Given the description of an element on the screen output the (x, y) to click on. 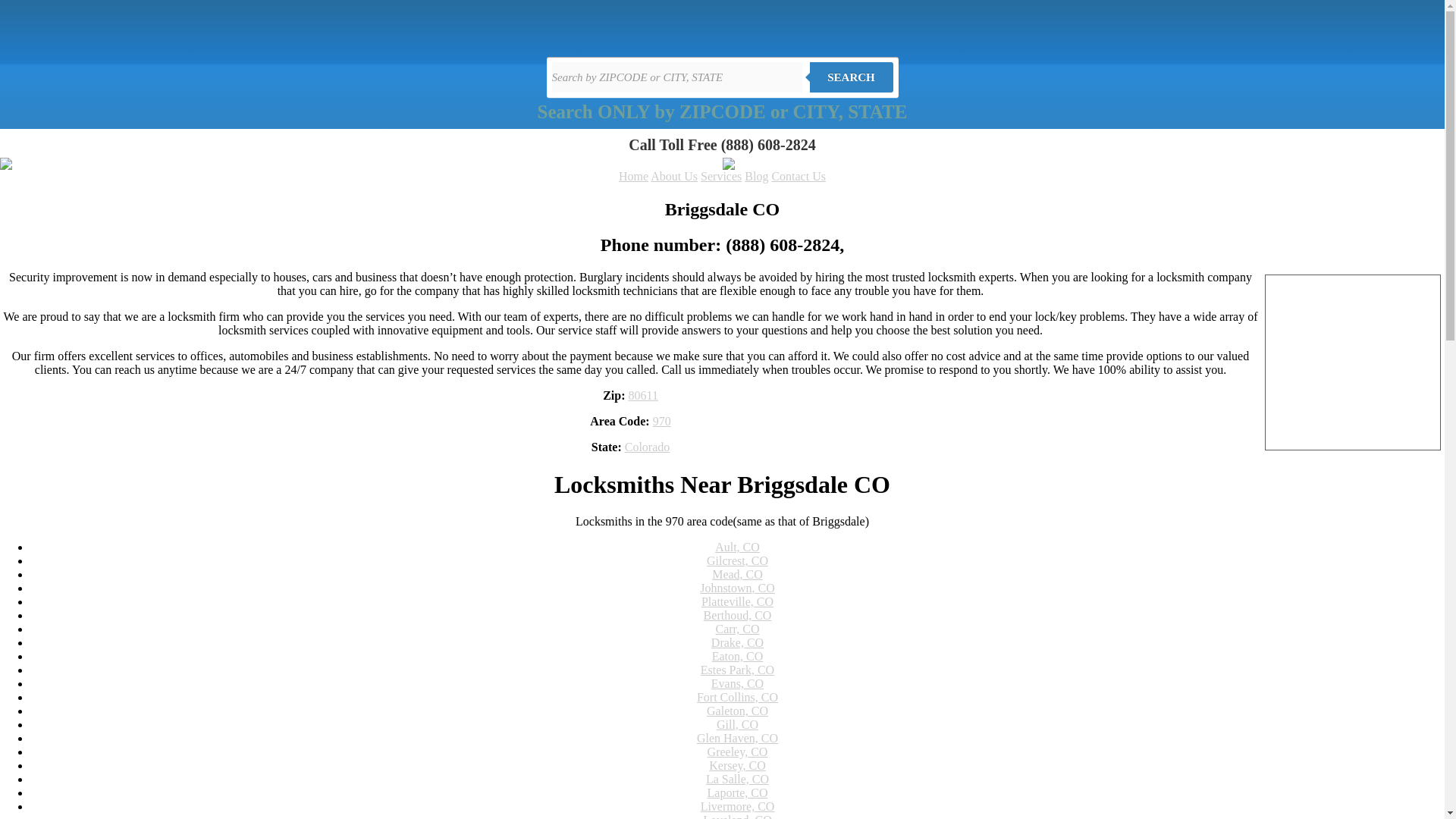
SEARCH (851, 77)
Laporte, CO (736, 792)
Berthoud, CO (737, 615)
Home (632, 175)
About Us (673, 175)
Livermore, CO (737, 806)
Ault, CO (737, 546)
Permanent Link to Kersey CO (737, 765)
Permanent Link to Galeton CO (737, 710)
Greeley, CO (737, 751)
